Given the description of an element on the screen output the (x, y) to click on. 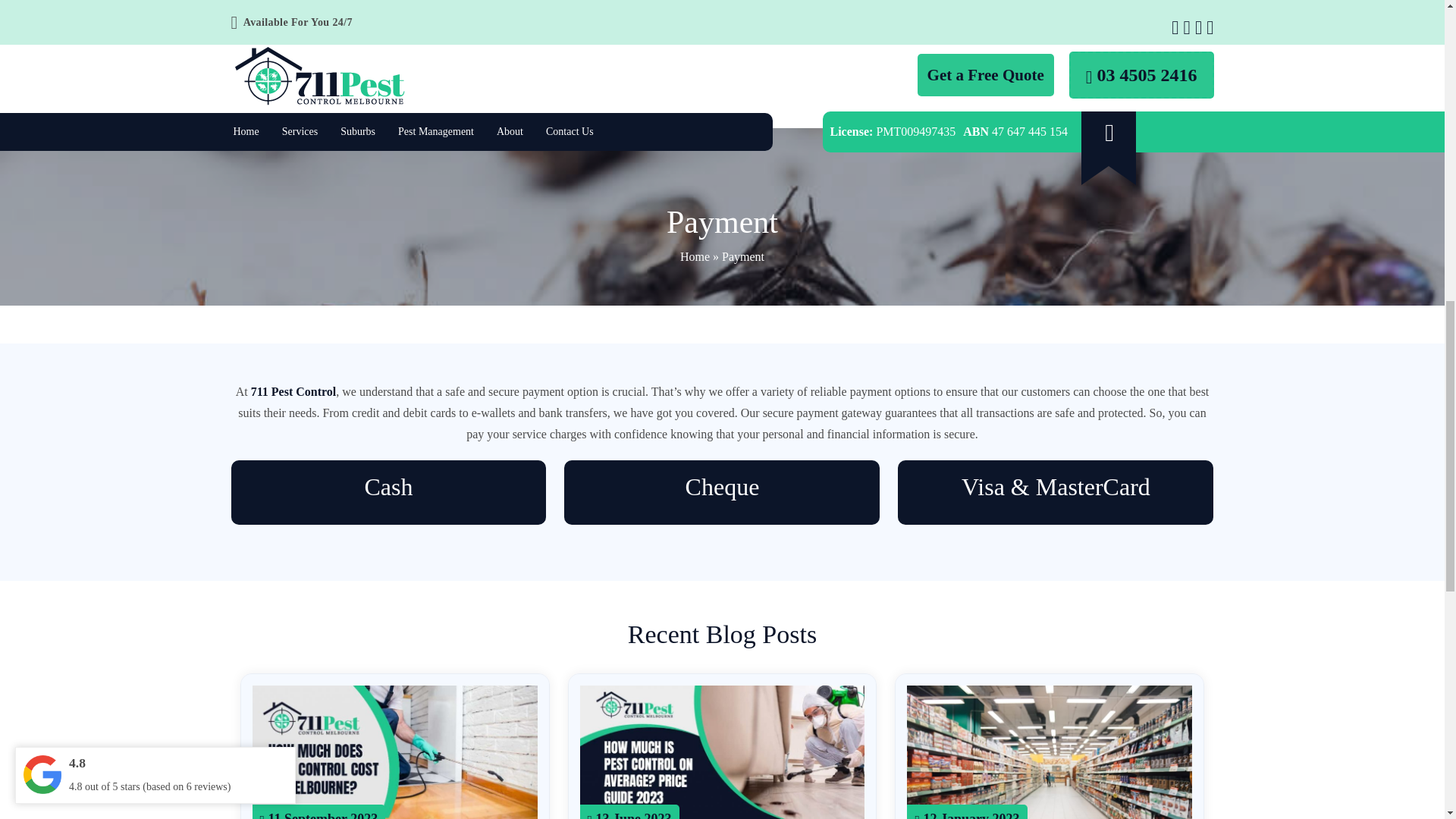
Services (299, 132)
03 4505 2416 (1141, 74)
Get a Free Quote (985, 75)
Home (245, 132)
Pest Management (435, 132)
About (509, 132)
Suburbs (358, 132)
